Given the description of an element on the screen output the (x, y) to click on. 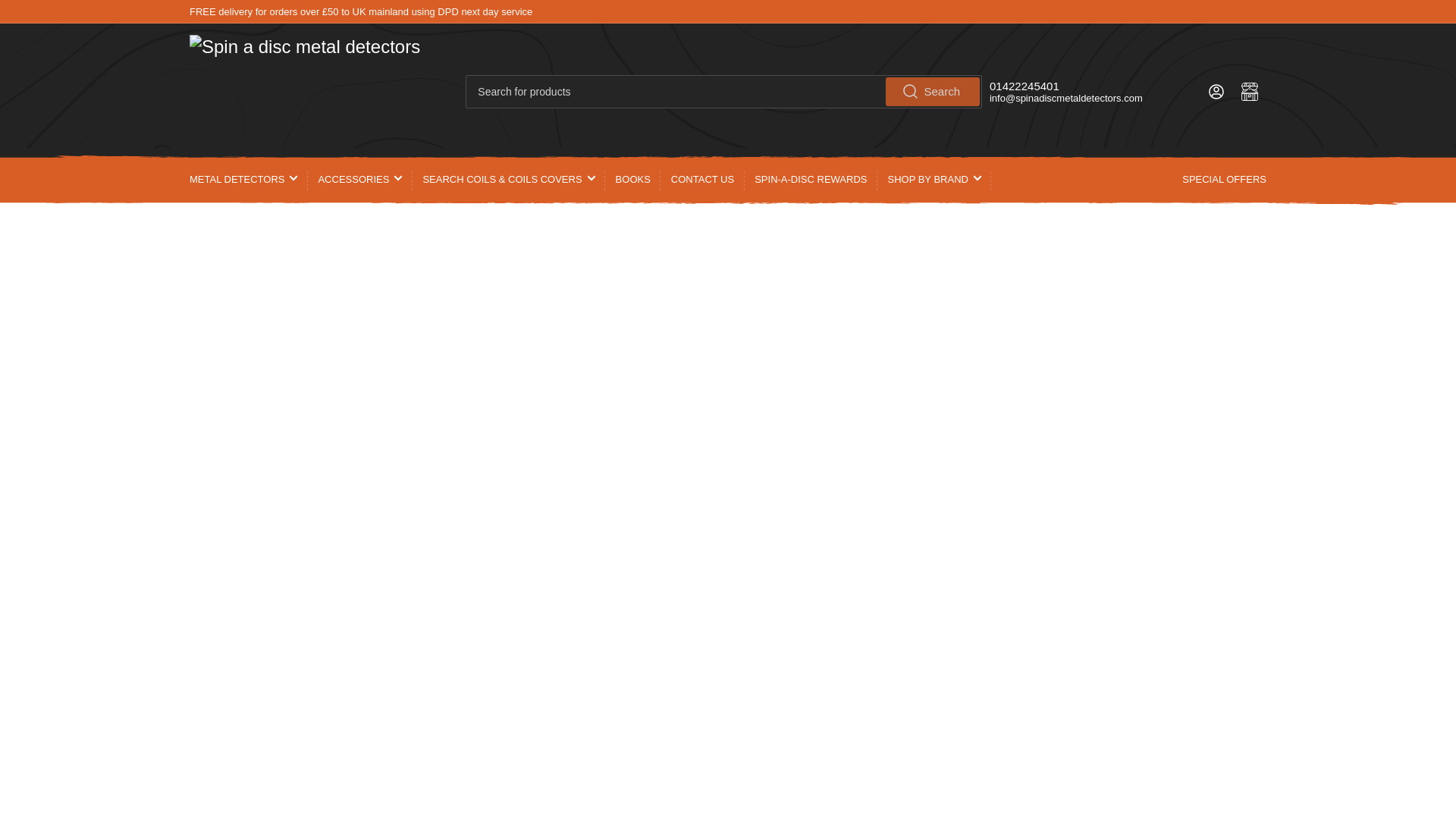
Log in (1216, 91)
Search (932, 91)
Open mini cart (1249, 91)
